Given the description of an element on the screen output the (x, y) to click on. 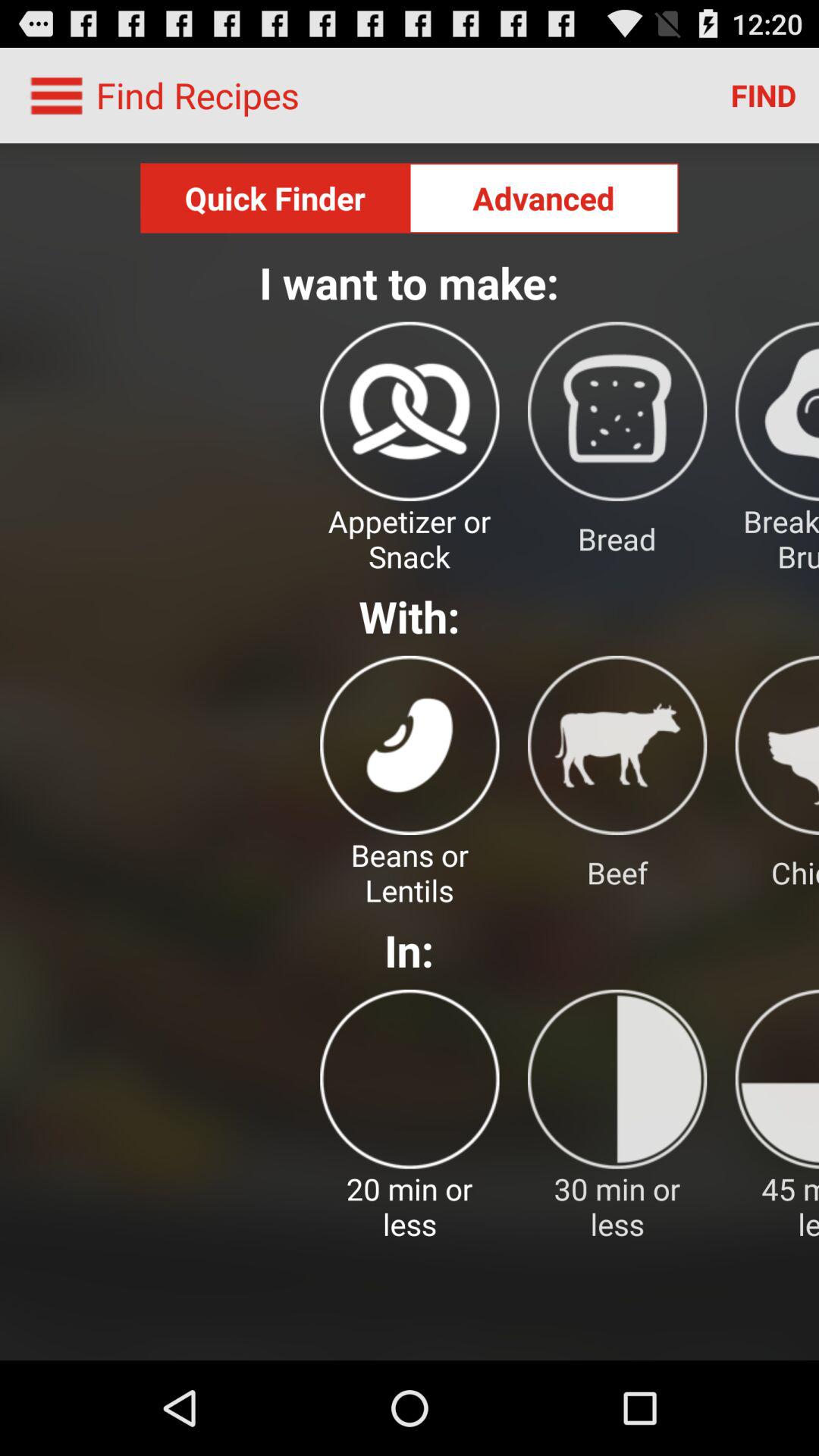
flip to advanced (543, 198)
